Given the description of an element on the screen output the (x, y) to click on. 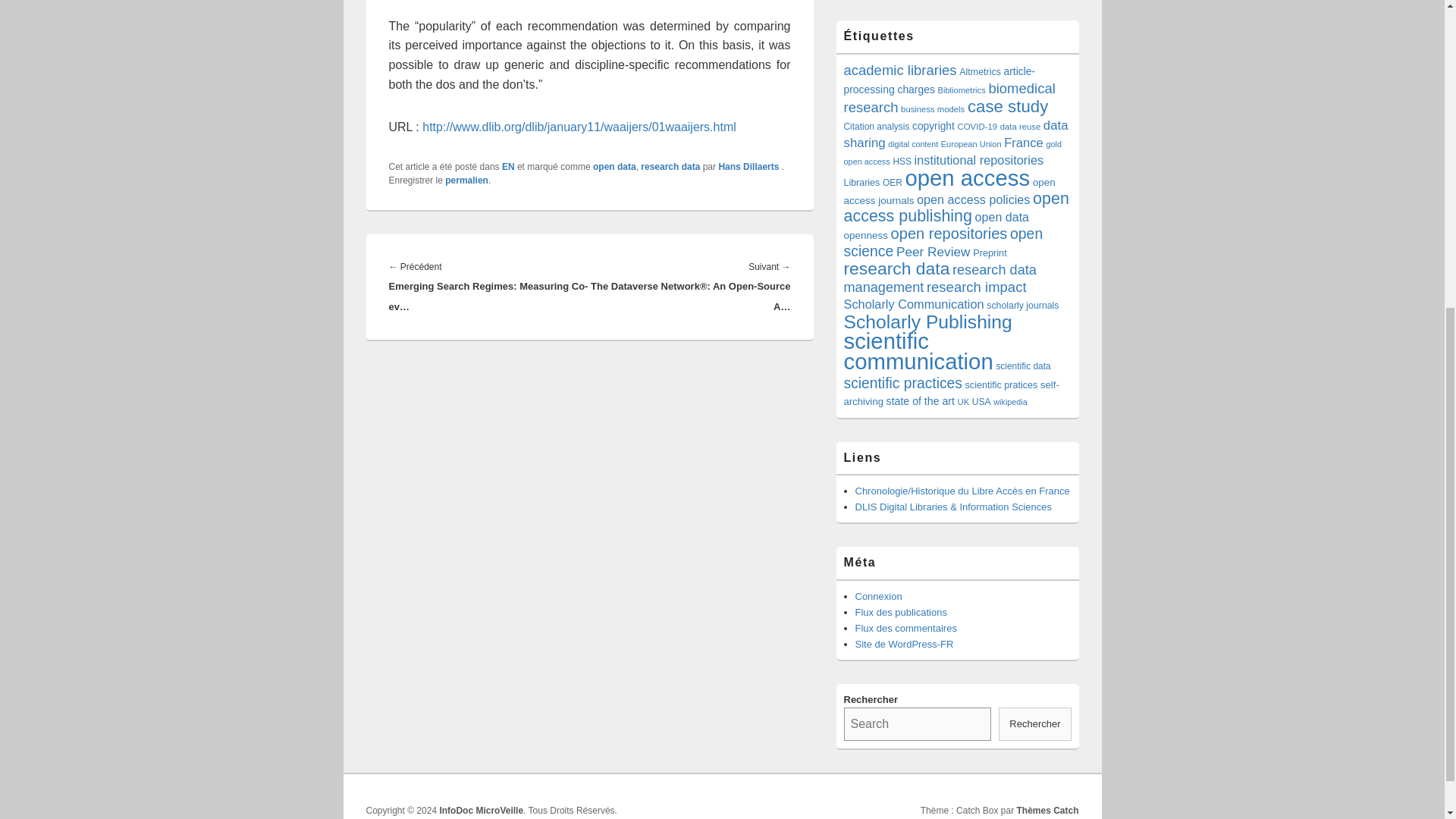
open access policies (973, 199)
business models (932, 108)
HSS (901, 161)
European Union (970, 143)
data reuse (1020, 126)
Citation analysis (875, 126)
copyright (933, 125)
EN (508, 166)
institutional repositories (978, 160)
Libraries (861, 182)
article-processing charges (939, 80)
academic libraries (899, 69)
gold open access (952, 152)
COVID-19 (976, 126)
